Given the description of an element on the screen output the (x, y) to click on. 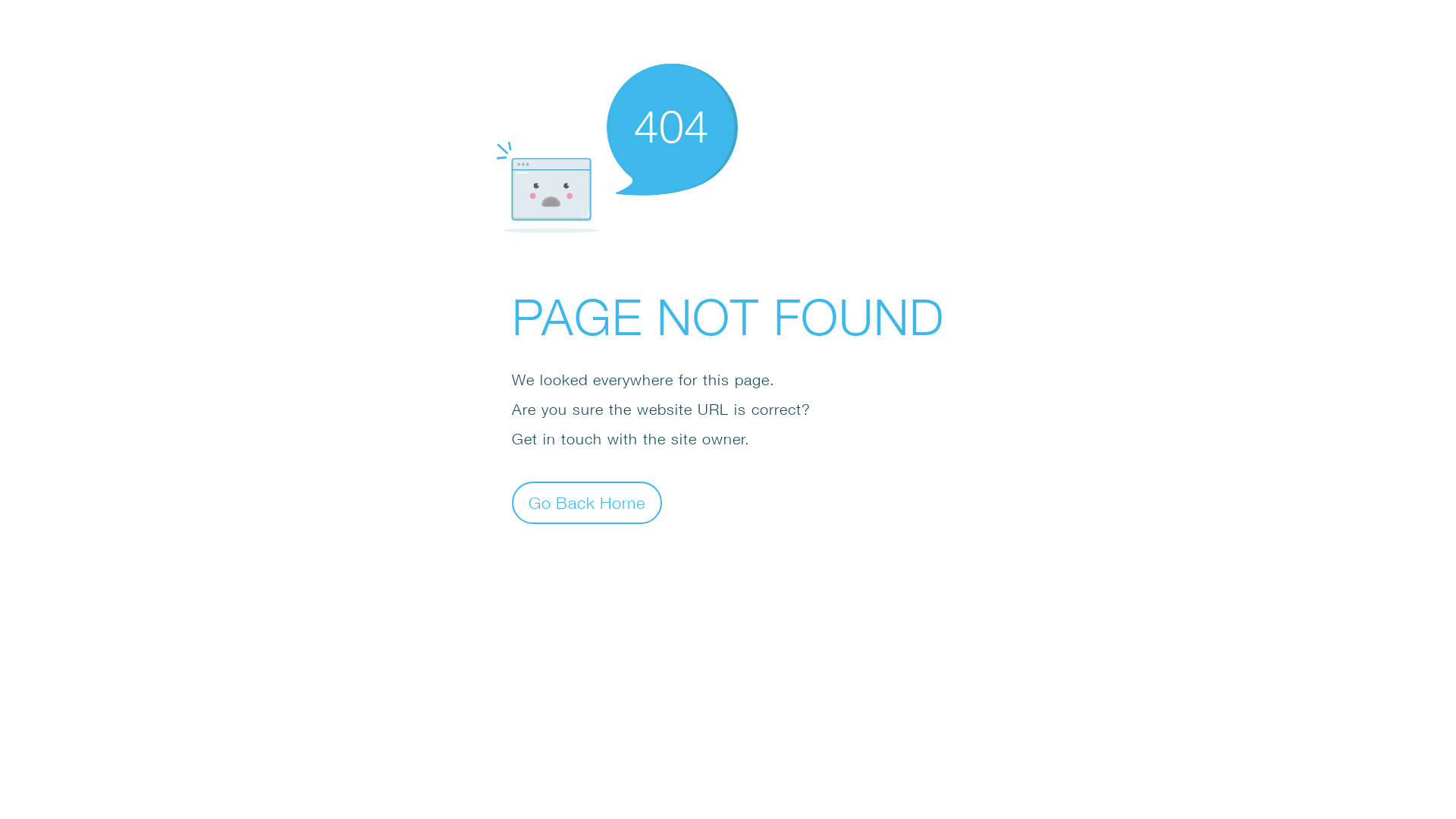
Go Back Home Element type: text (586, 502)
